Given the description of an element on the screen output the (x, y) to click on. 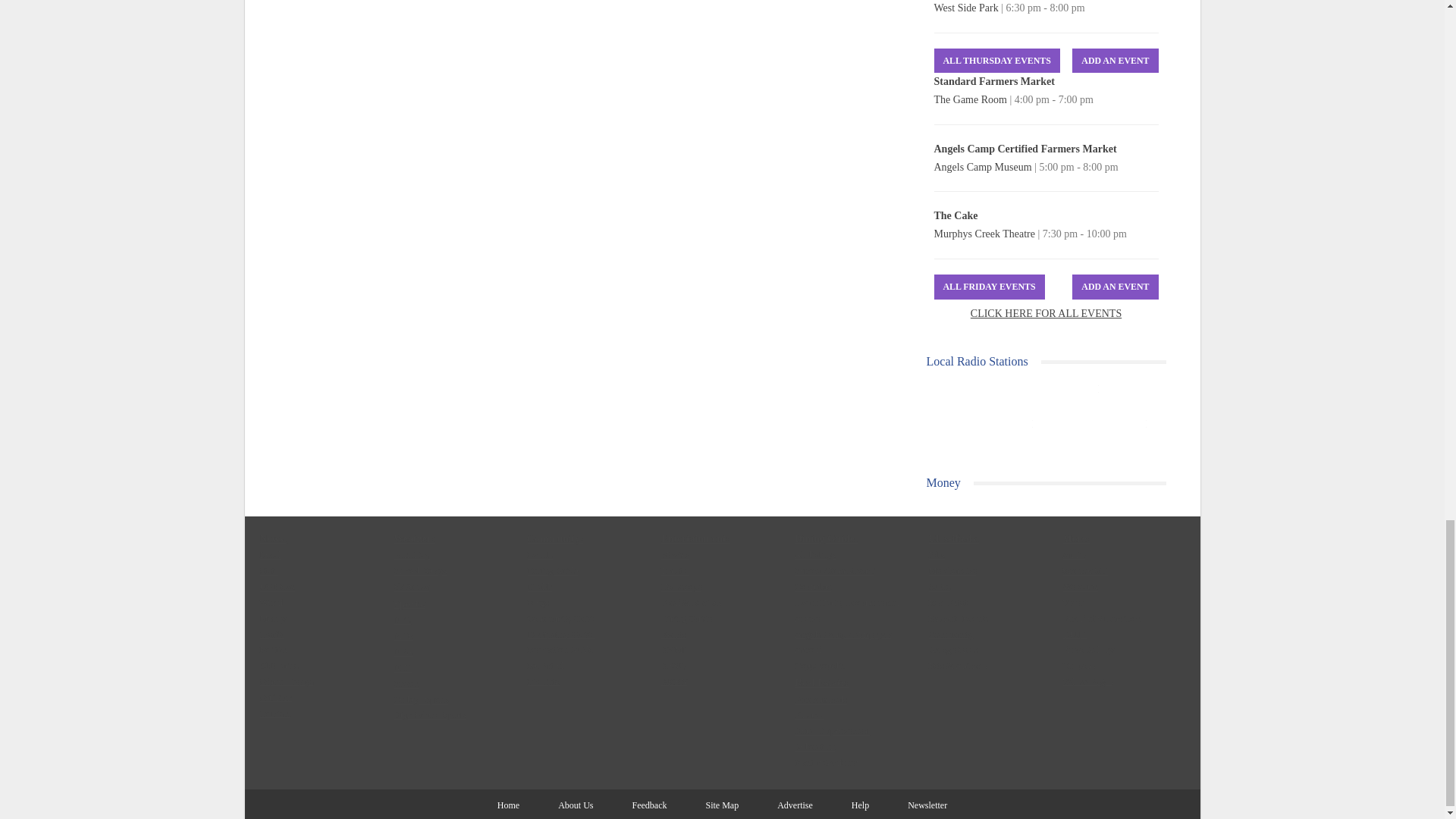
All Thursday Events (996, 60)
Add An Event (1114, 286)
All Friday Events (989, 286)
Add An Event (1114, 60)
